Given the description of an element on the screen output the (x, y) to click on. 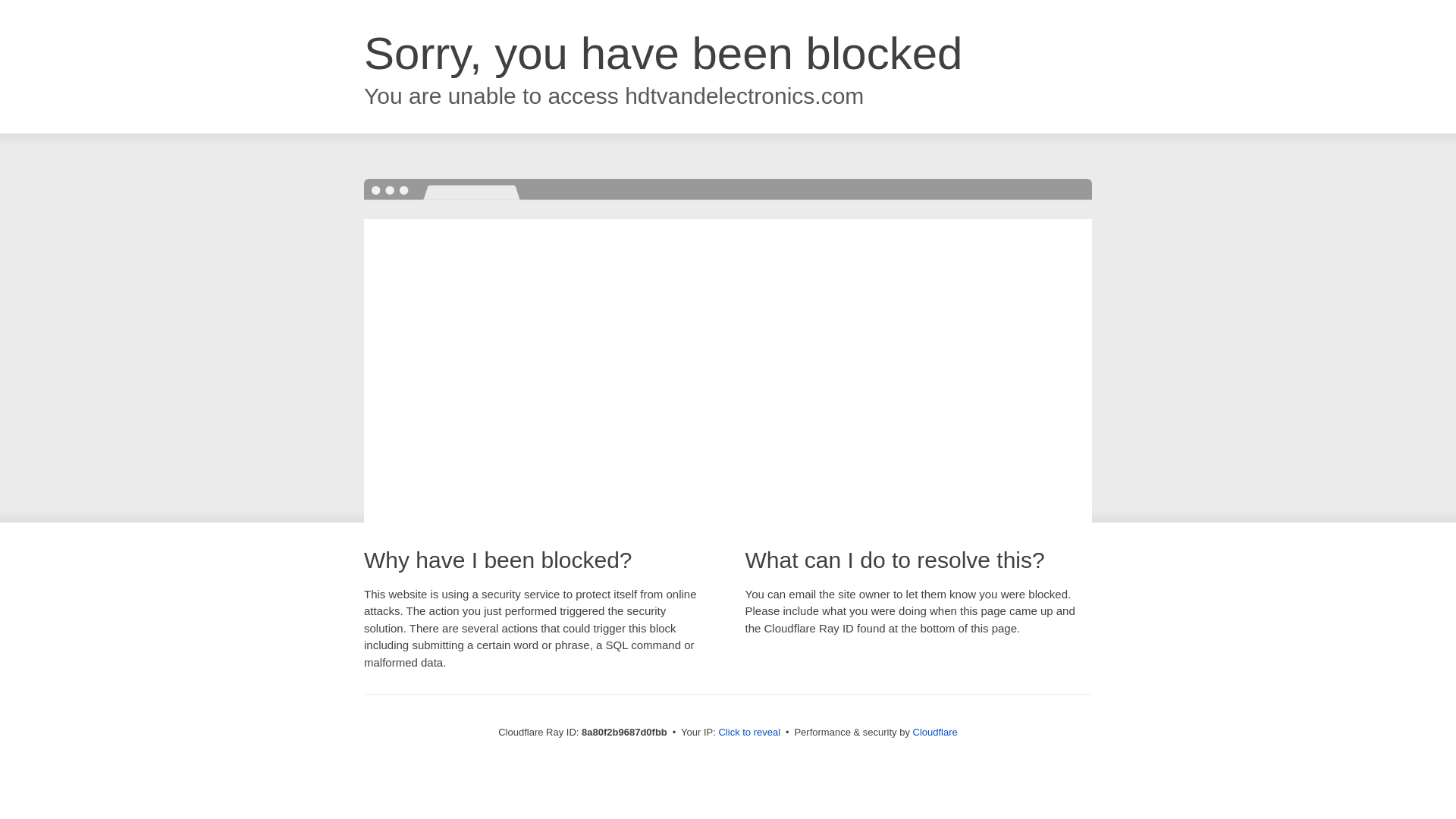
Cloudflare (935, 731)
Click to reveal (748, 732)
